Given the description of an element on the screen output the (x, y) to click on. 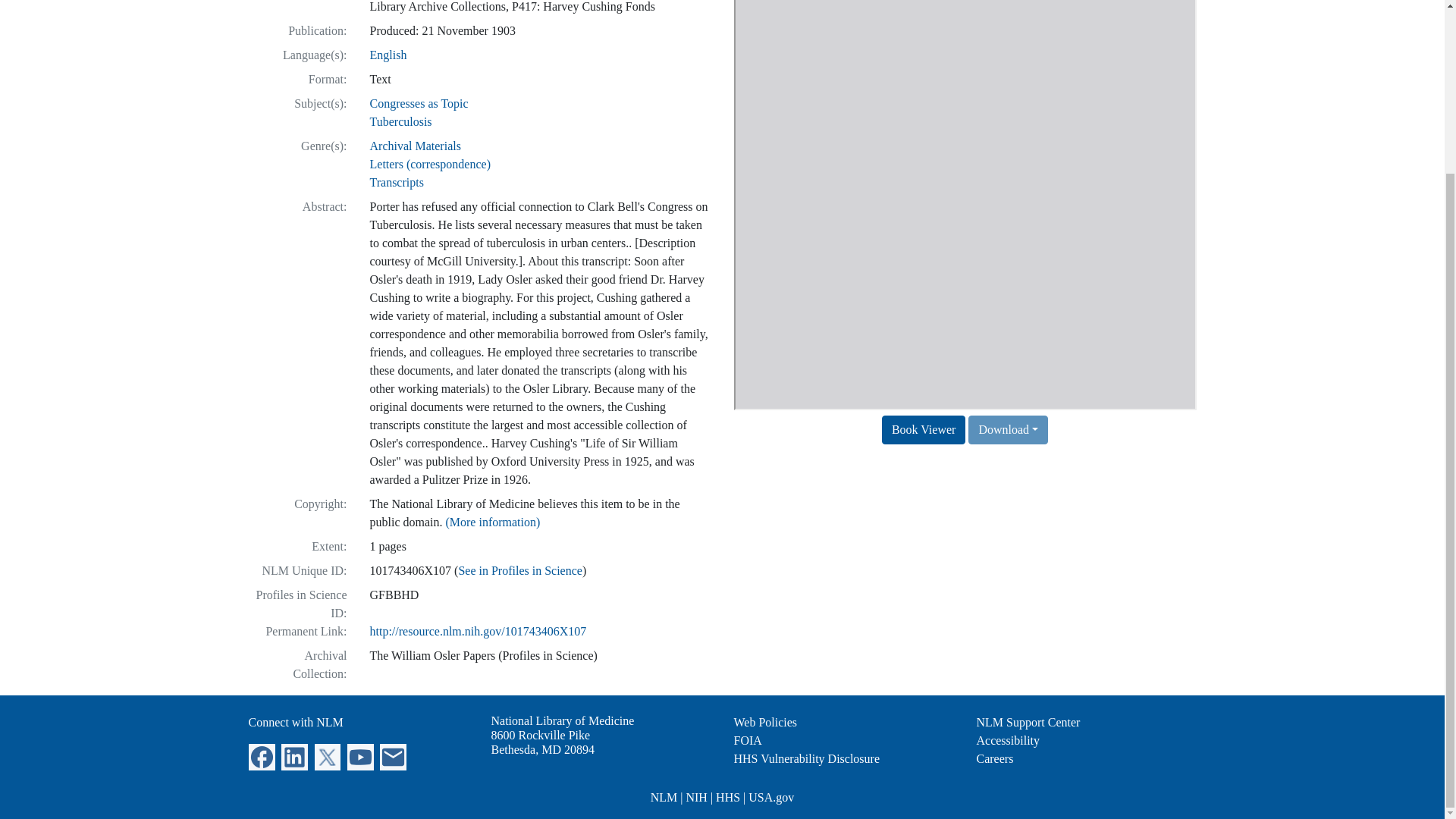
NLM Support Center (1028, 721)
USA.gov (770, 797)
Congresses as Topic (418, 103)
English (388, 54)
External link: please review our privacy policy. (294, 755)
Connect with NLM (295, 721)
NIH (695, 797)
Tuberculosis (543, 741)
Web Policies (400, 121)
Accessibility (765, 721)
External link: please review our privacy policy. (1008, 739)
Transcripts (393, 755)
HHS Vulnerability Disclosure (396, 182)
HHS (806, 758)
